Given the description of an element on the screen output the (x, y) to click on. 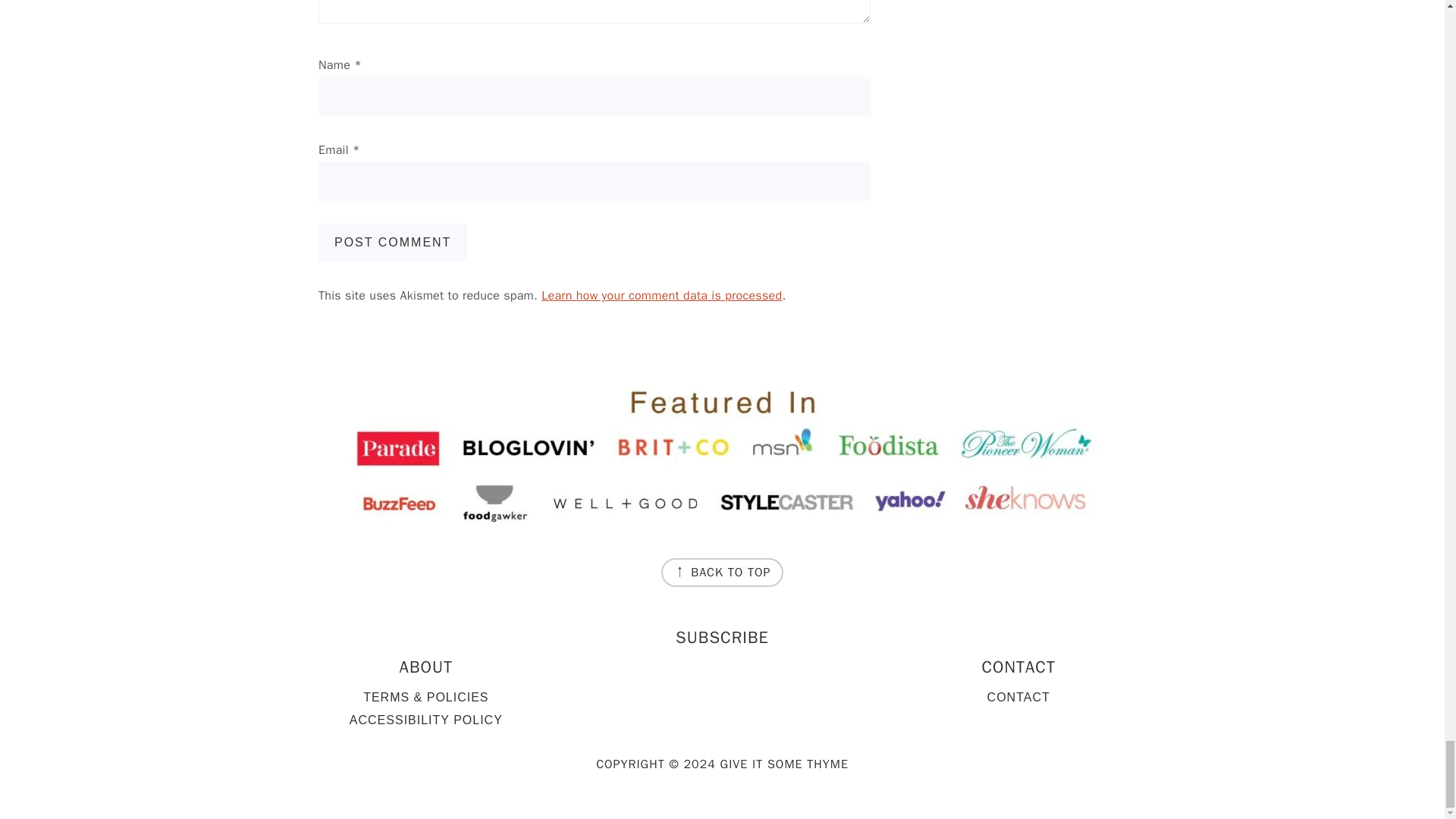
Post Comment (392, 242)
